Given the description of an element on the screen output the (x, y) to click on. 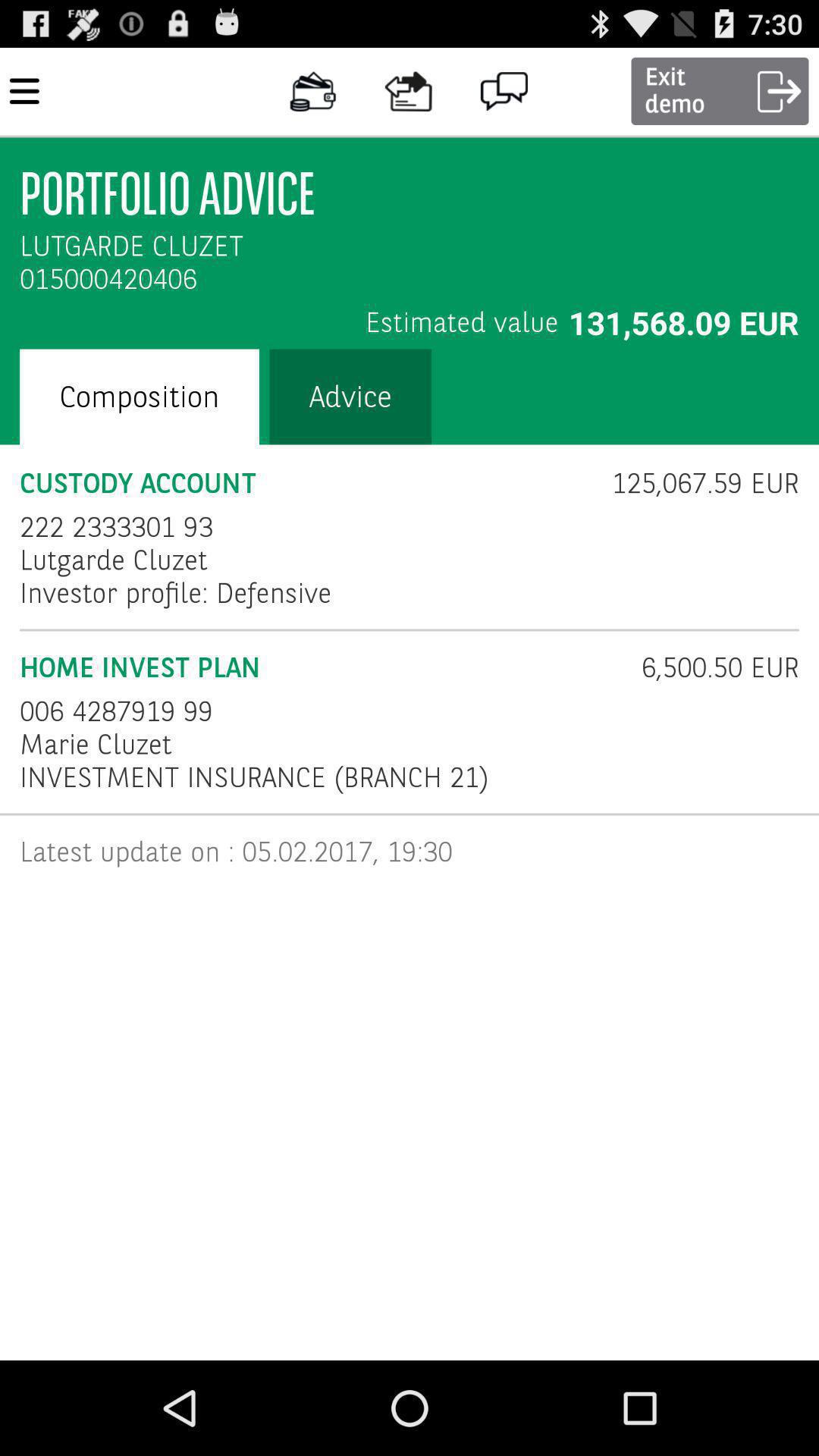
launch the marie cluzet item (95, 744)
